Given the description of an element on the screen output the (x, y) to click on. 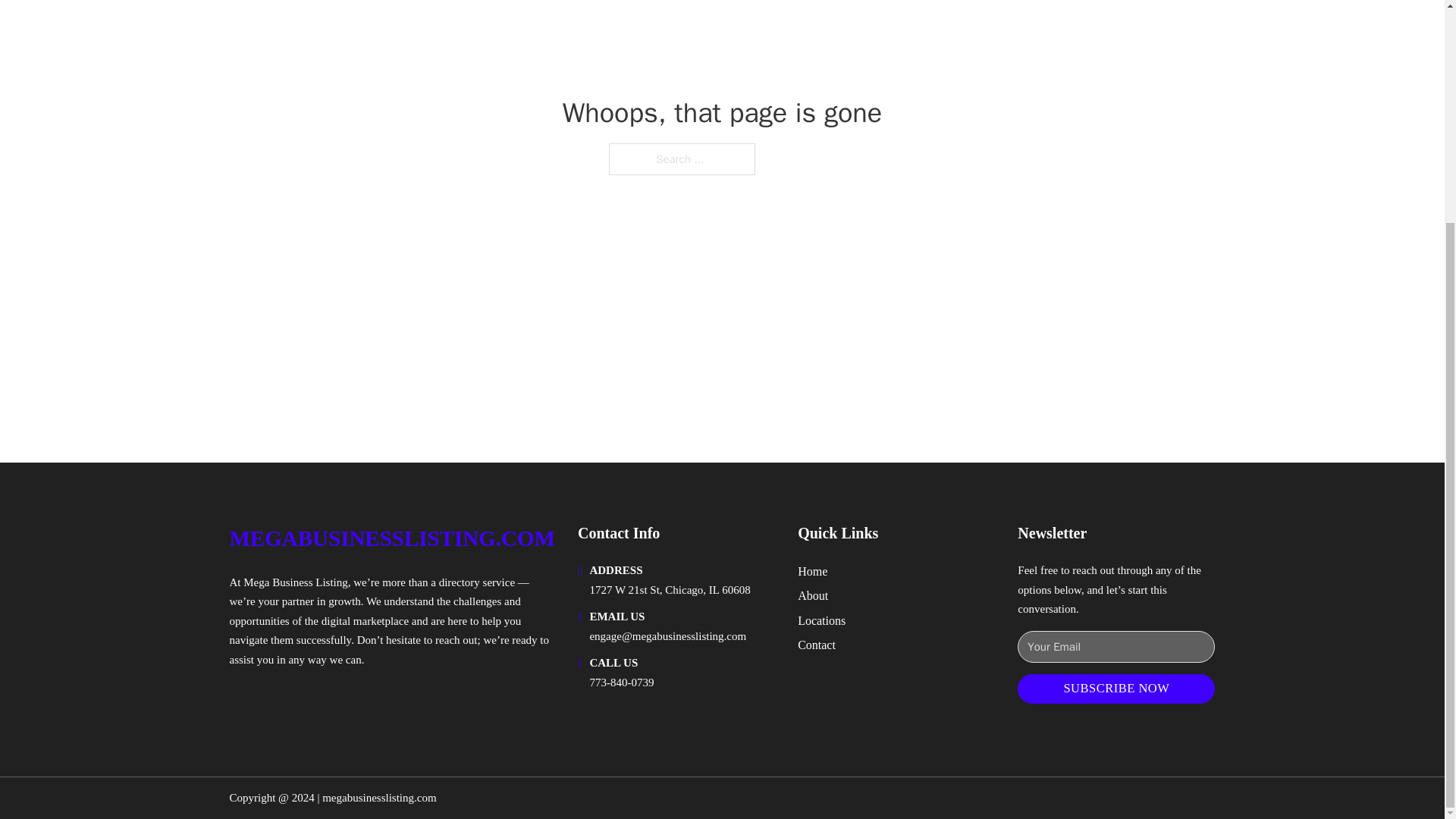
Home (812, 571)
MEGABUSINESSLISTING.COM (391, 538)
Locations (821, 620)
Contact (816, 644)
About (812, 595)
SUBSCRIBE NOW (1115, 688)
773-840-0739 (621, 682)
